Given the description of an element on the screen output the (x, y) to click on. 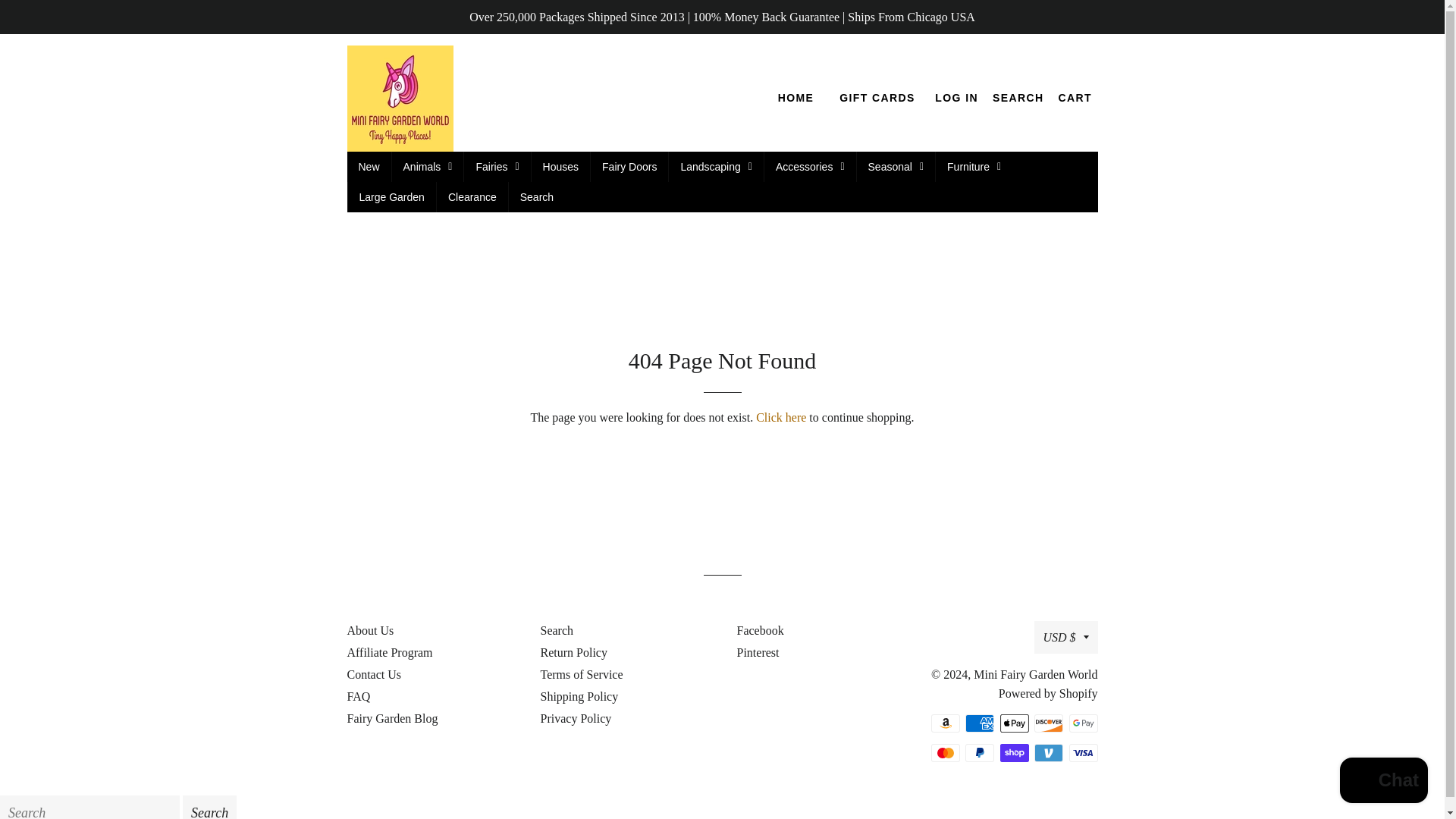
Venmo (1047, 751)
Apple Pay (1012, 723)
PayPal (979, 751)
Discover (1047, 723)
American Express (979, 723)
Google Pay (1082, 723)
Visa (1082, 751)
Shop Pay (1012, 751)
Mastercard (945, 751)
Amazon (945, 723)
